Given the description of an element on the screen output the (x, y) to click on. 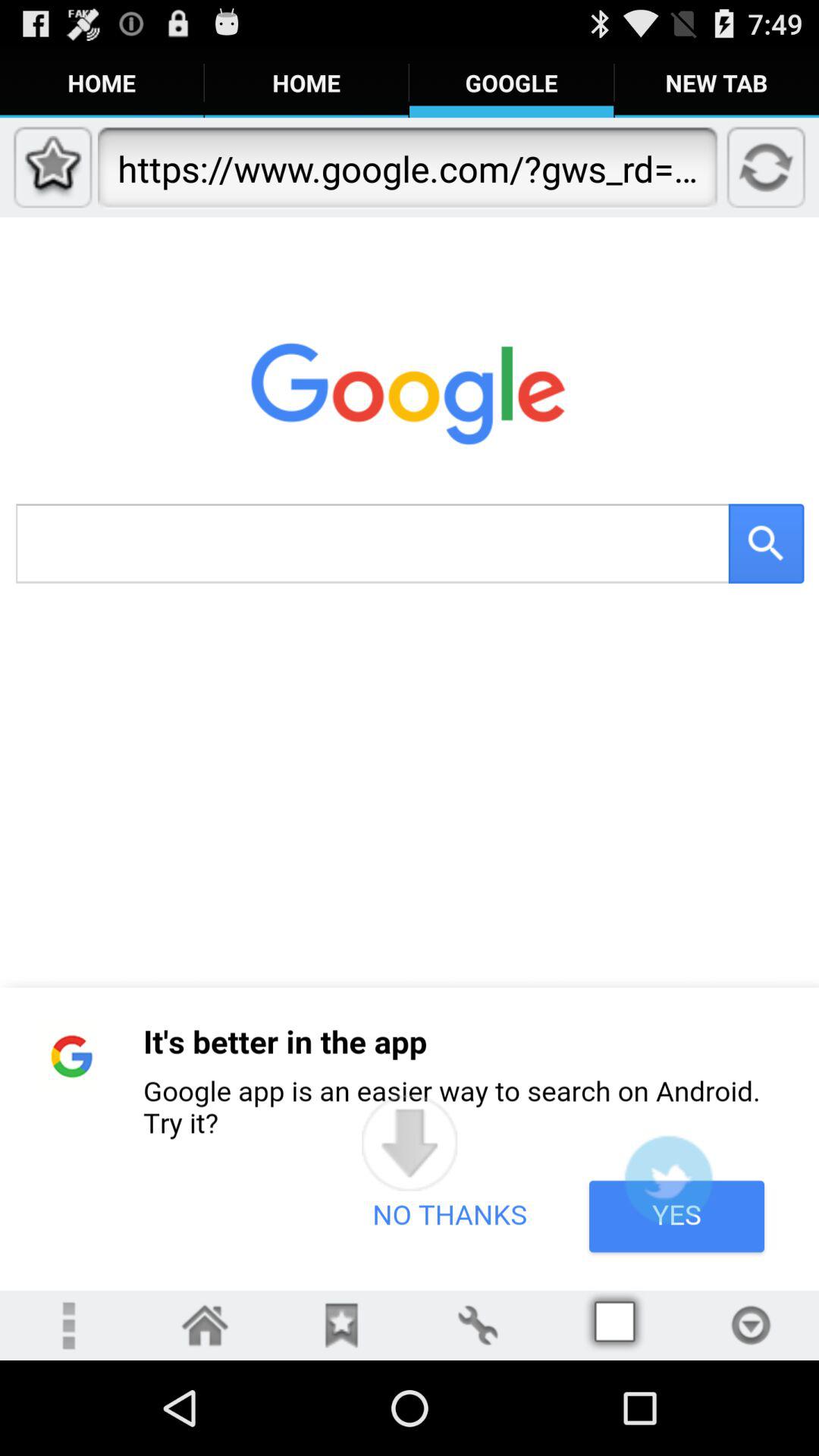
go down (409, 1142)
